Given the description of an element on the screen output the (x, y) to click on. 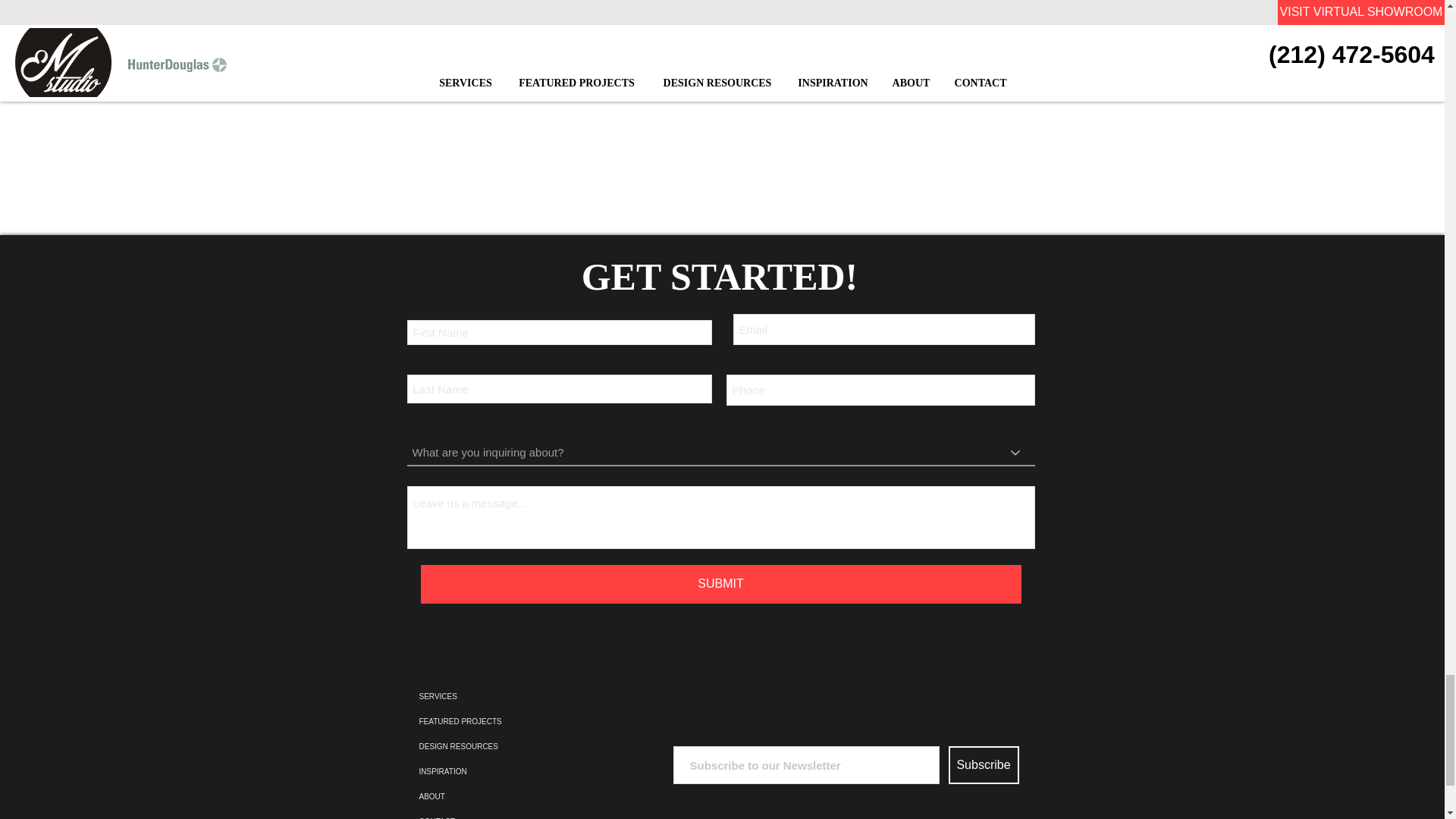
DESIGN RESOURCES (505, 746)
CONTACT (505, 814)
INSPIRATION (505, 771)
ABOUT (505, 796)
SUBMIT (720, 584)
FEATURED PROJECTS (505, 721)
SERVICES (505, 696)
Subscribe (982, 764)
